Given the description of an element on the screen output the (x, y) to click on. 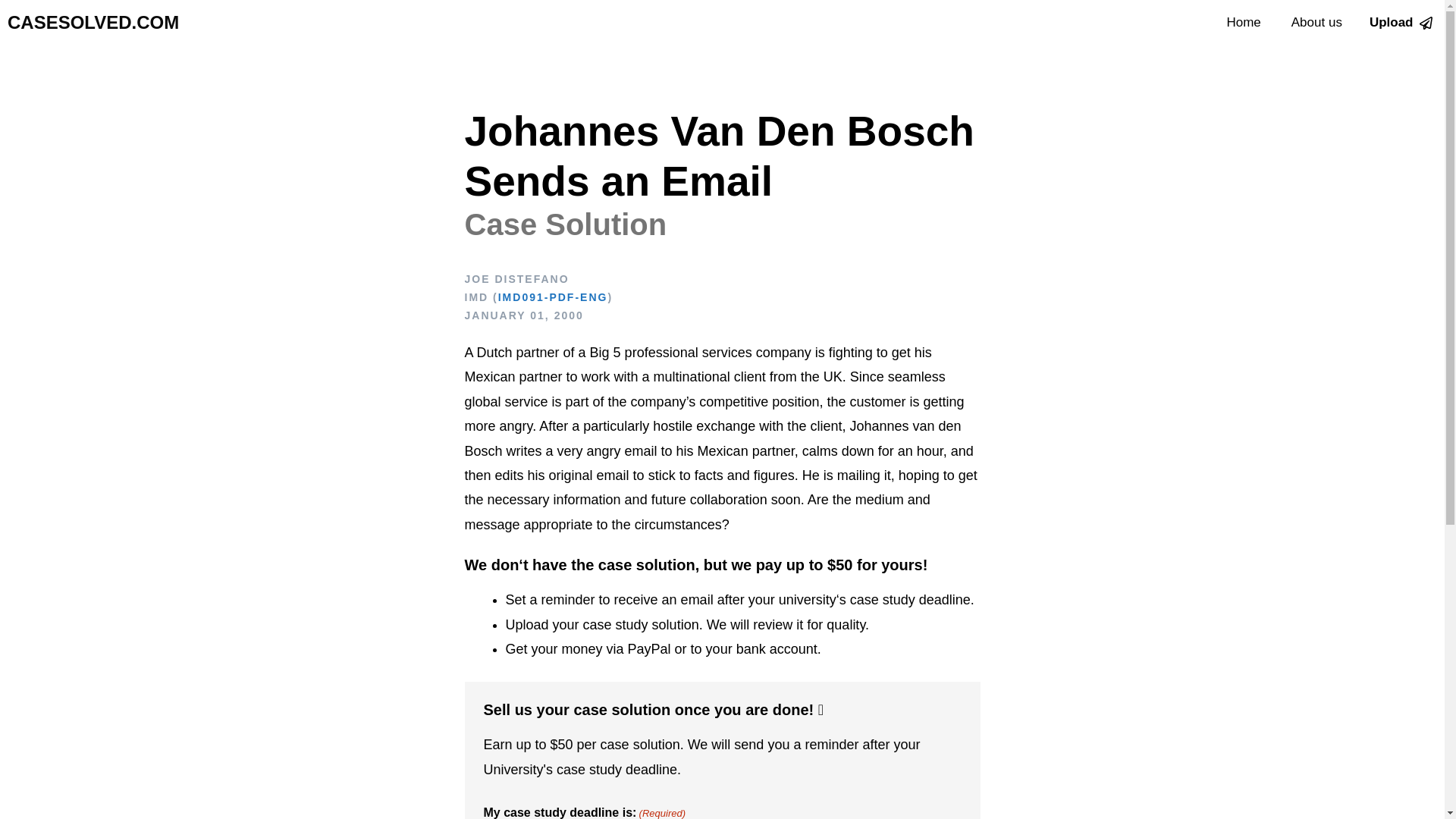
IMD091-PDF-ENG (552, 297)
CASESOLVED.COM (93, 22)
Home (1243, 22)
About us (1316, 22)
